Given the description of an element on the screen output the (x, y) to click on. 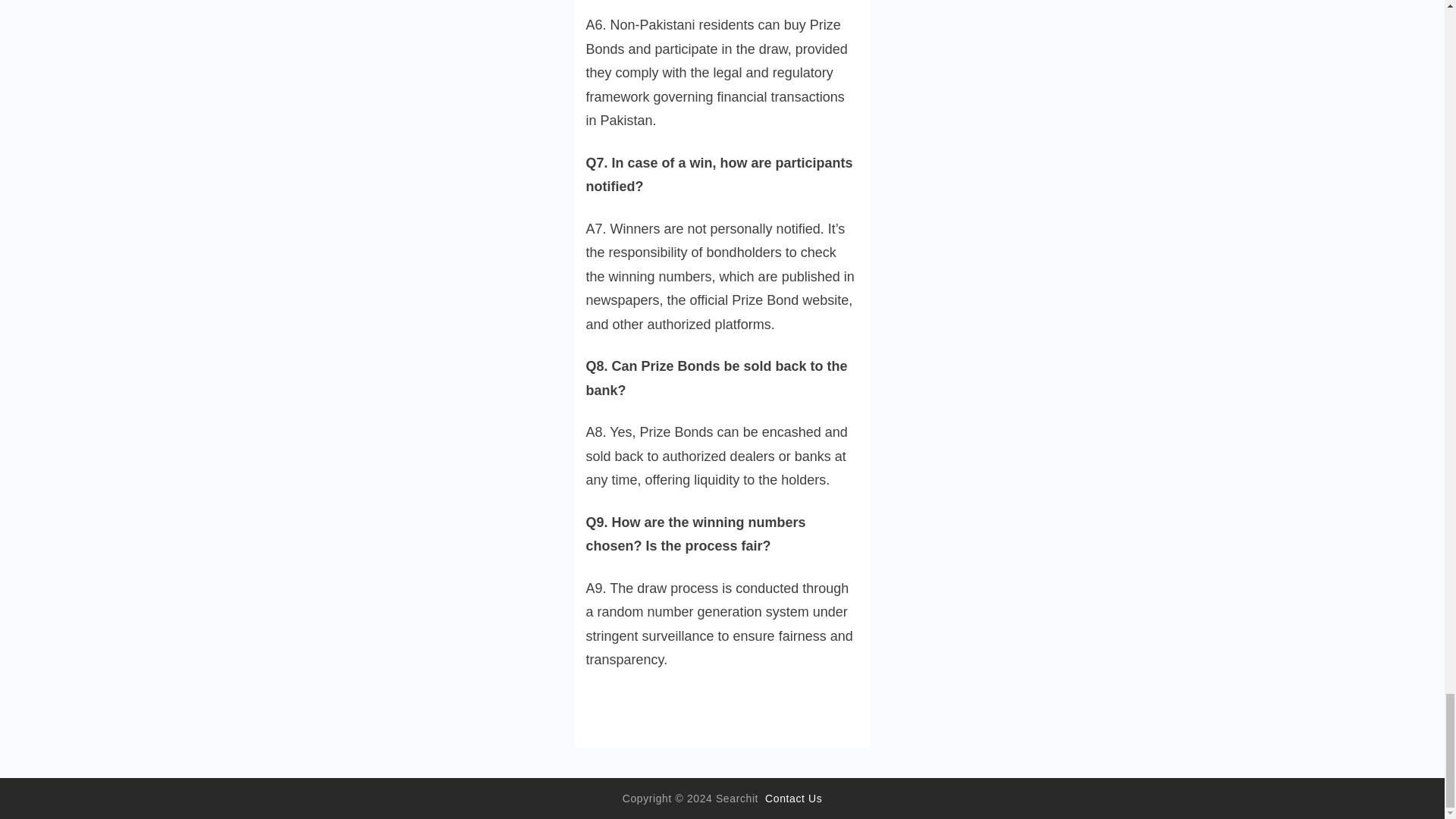
Contact Us (793, 798)
